Given the description of an element on the screen output the (x, y) to click on. 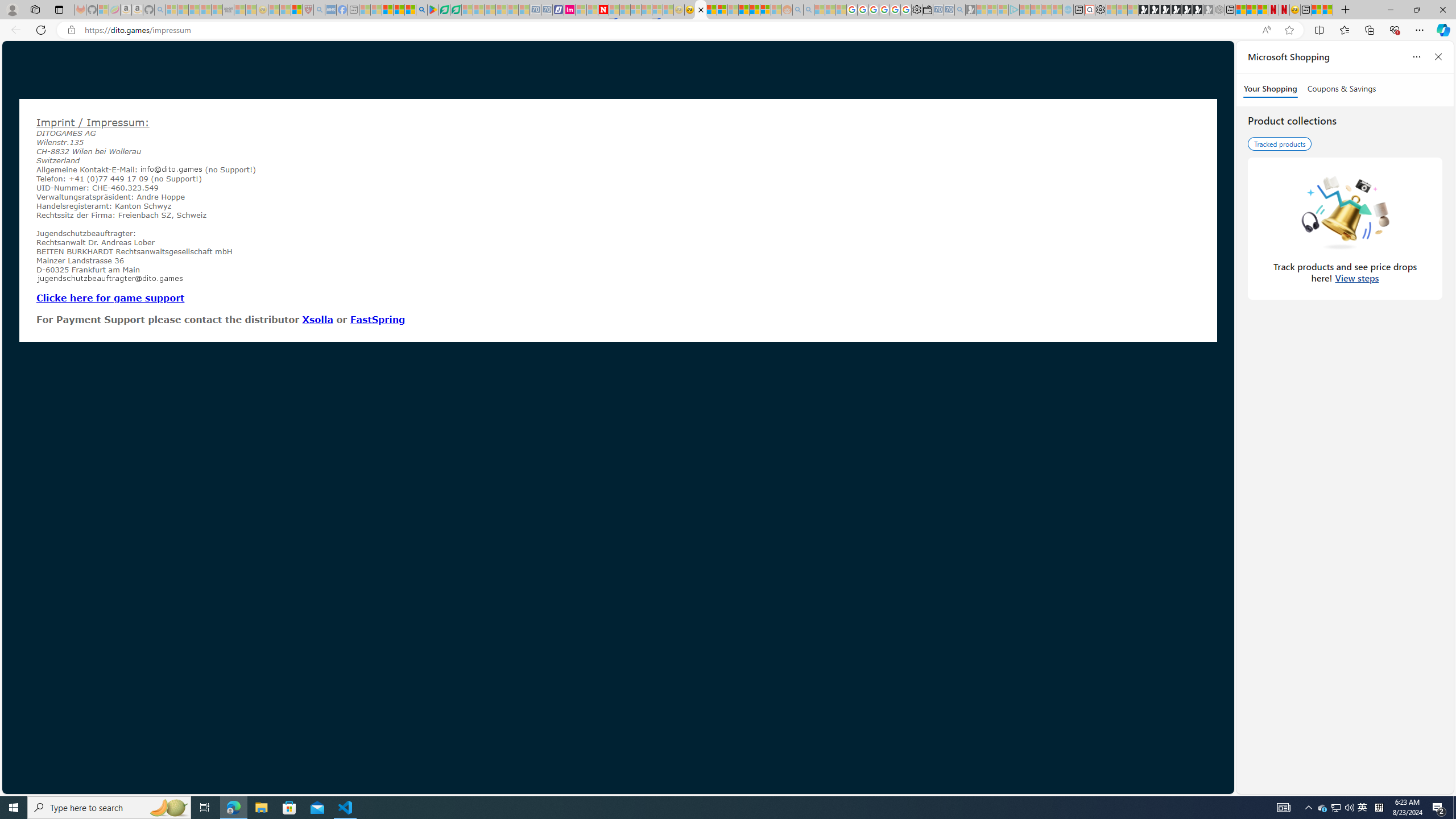
NCL Adult Asthma Inhaler Choice Guideline - Sleeping (330, 9)
Microsoft-Report a Concern to Bing - Sleeping (103, 9)
Home | Sky Blue Bikes - Sky Blue Bikes - Sleeping (1068, 9)
MSNBC - MSN (711, 9)
New Report Confirms 2023 Was Record Hot | Watch - Sleeping (216, 9)
